Given the description of an element on the screen output the (x, y) to click on. 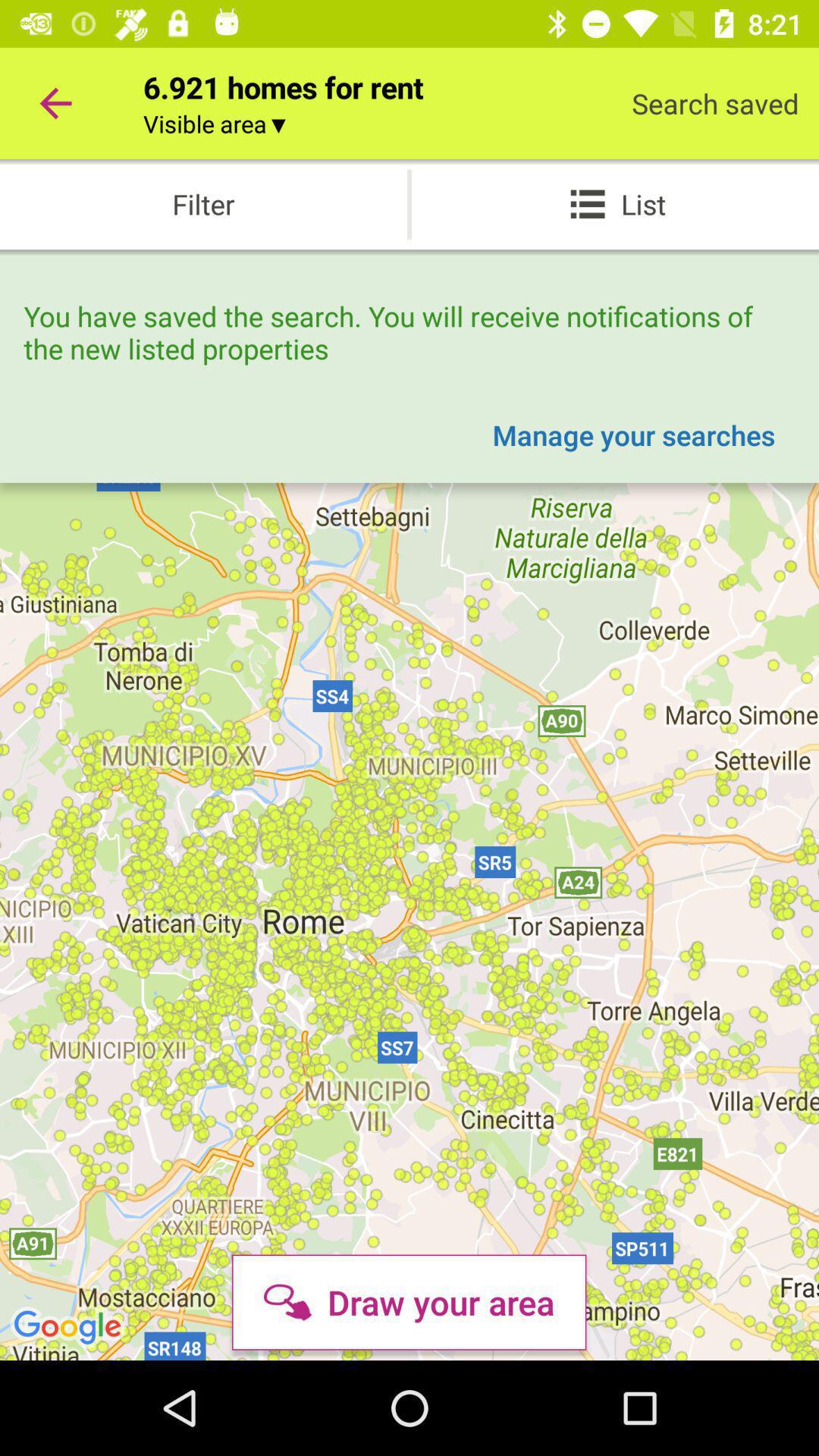
flip to the manage your searches icon (633, 434)
